Given the description of an element on the screen output the (x, y) to click on. 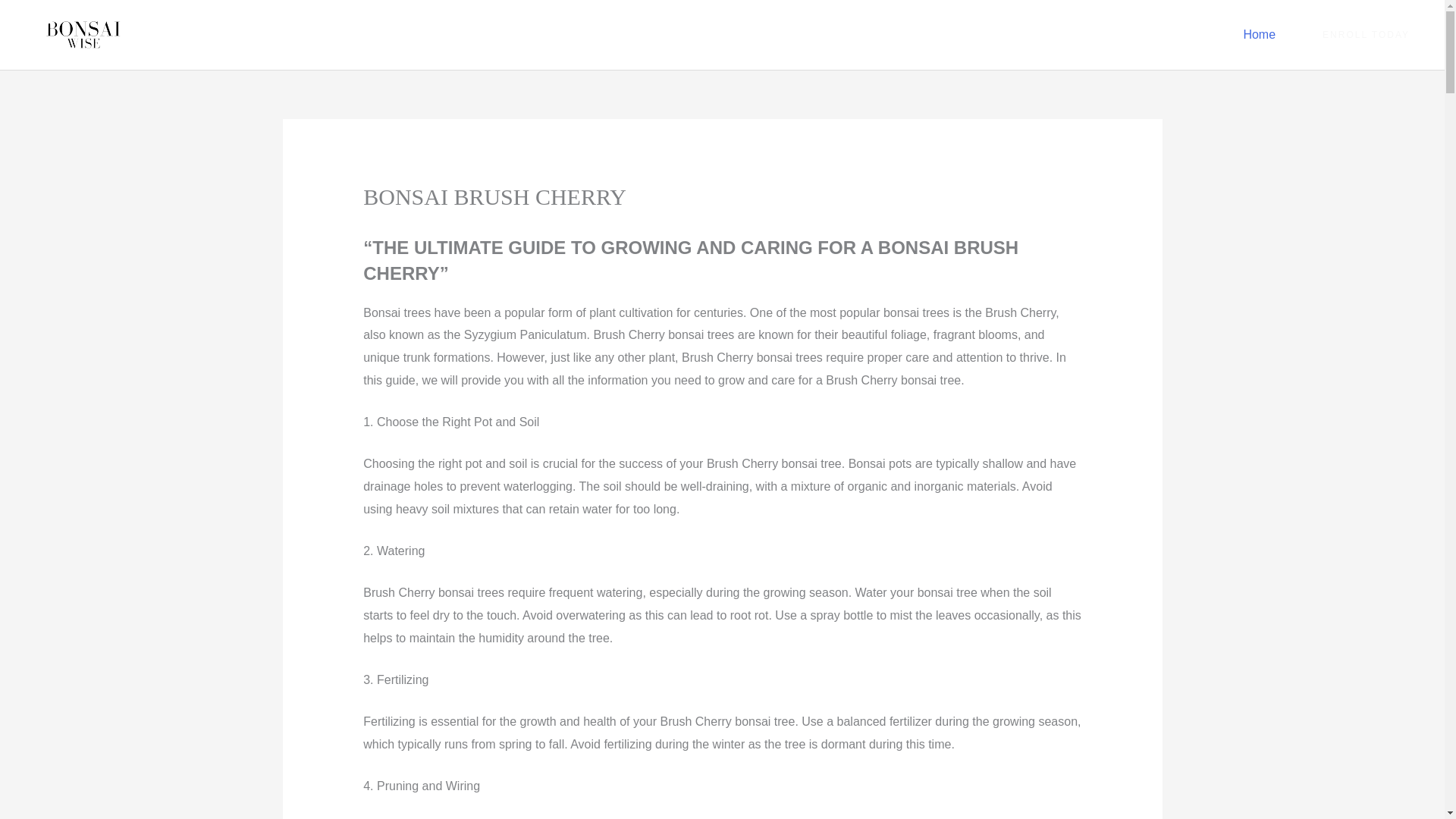
Home (1258, 34)
ENROLL TODAY (1366, 34)
